Given the description of an element on the screen output the (x, y) to click on. 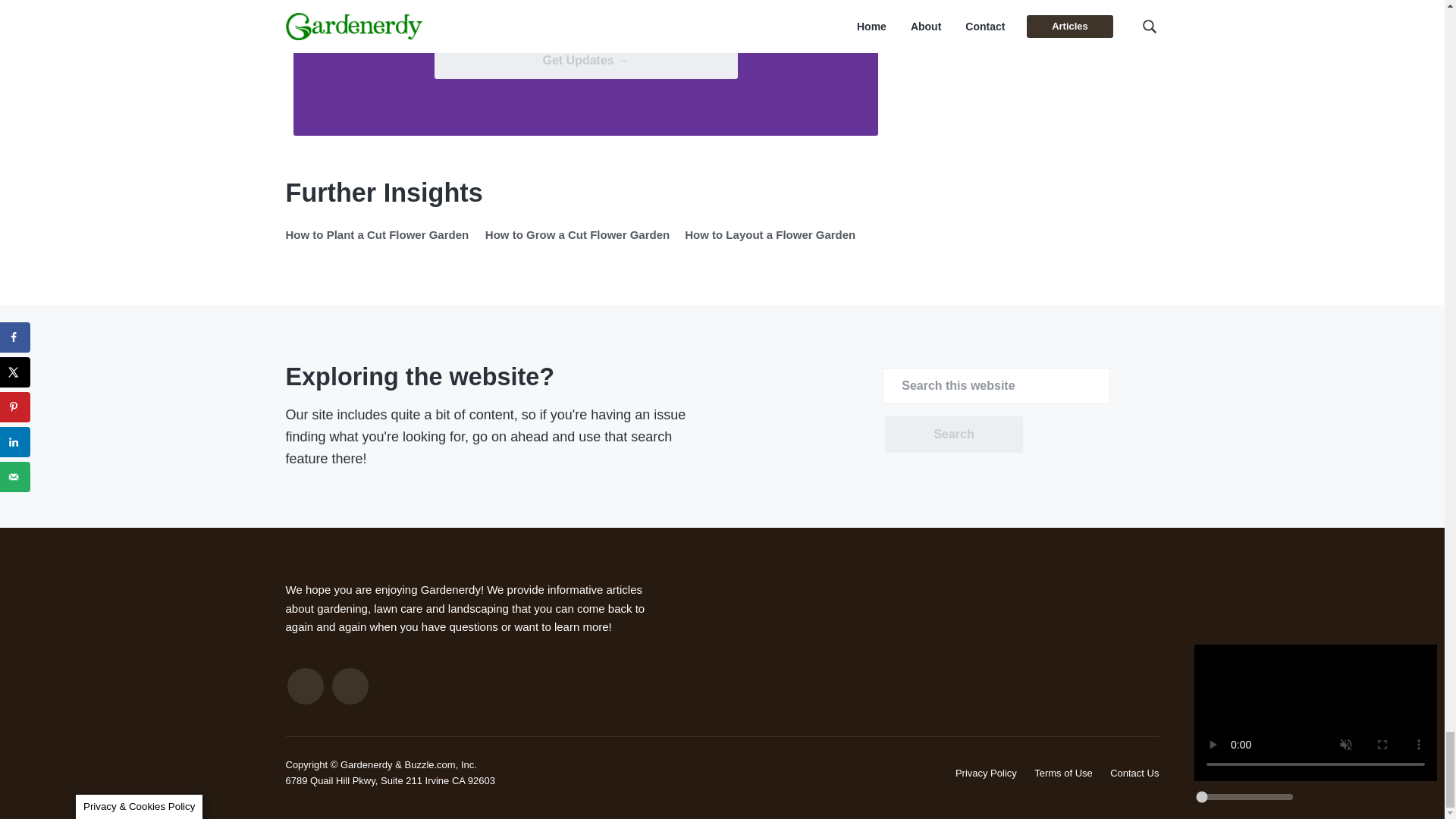
Search (953, 434)
Search (953, 434)
How to Grow a Cut Flower Garden (576, 234)
How to Plant a Cut Flower Garden (376, 234)
How to Layout a Flower Garden (770, 234)
